Given the description of an element on the screen output the (x, y) to click on. 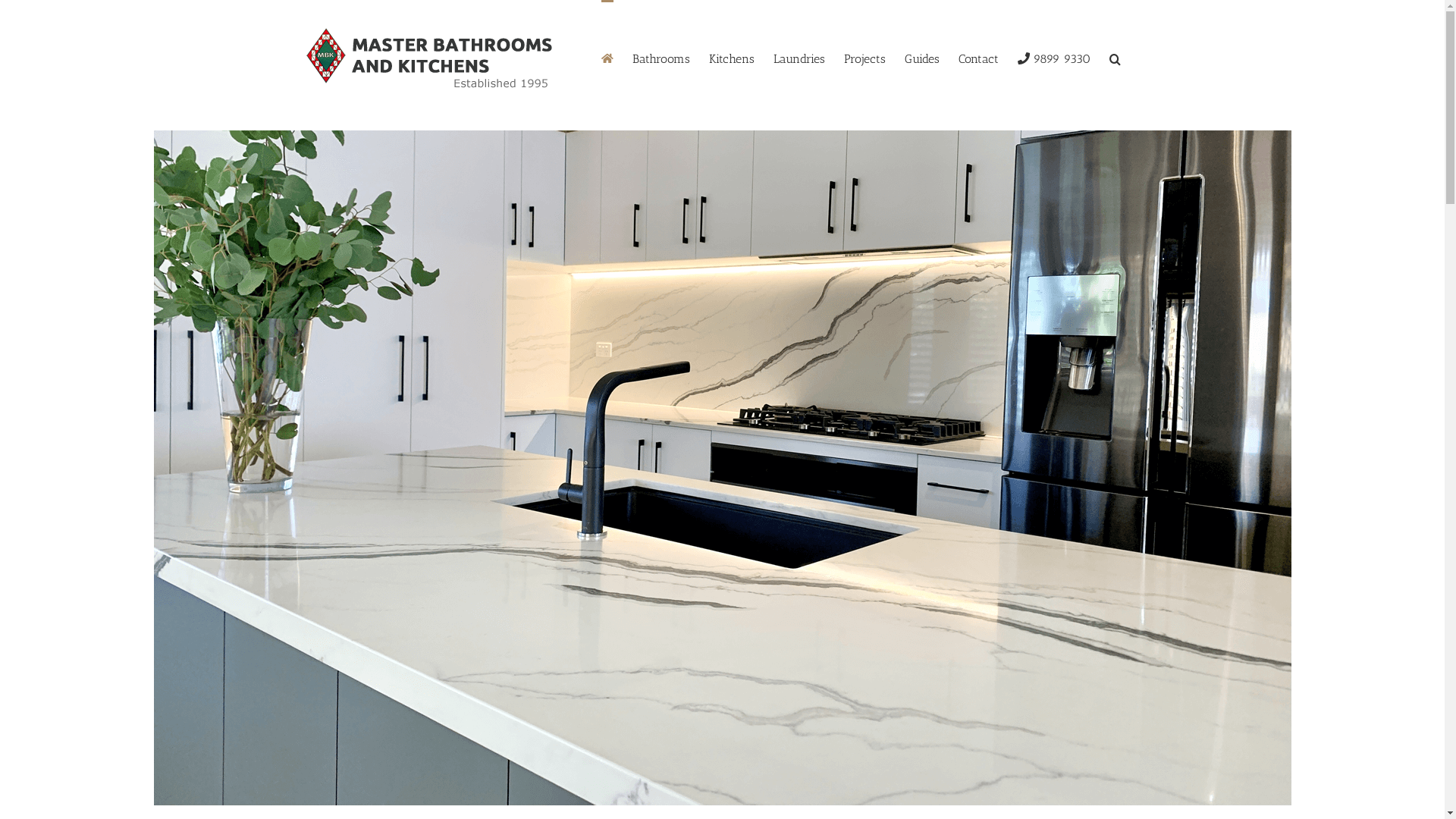
9899 9330 Element type: text (1053, 57)
Guides Element type: text (920, 57)
Search Element type: hover (1114, 57)
Projects Element type: text (863, 57)
Laundries Element type: text (799, 57)
Kitchens Element type: text (730, 57)
Contact Element type: text (978, 57)
Bathrooms Element type: text (661, 57)
